Given the description of an element on the screen output the (x, y) to click on. 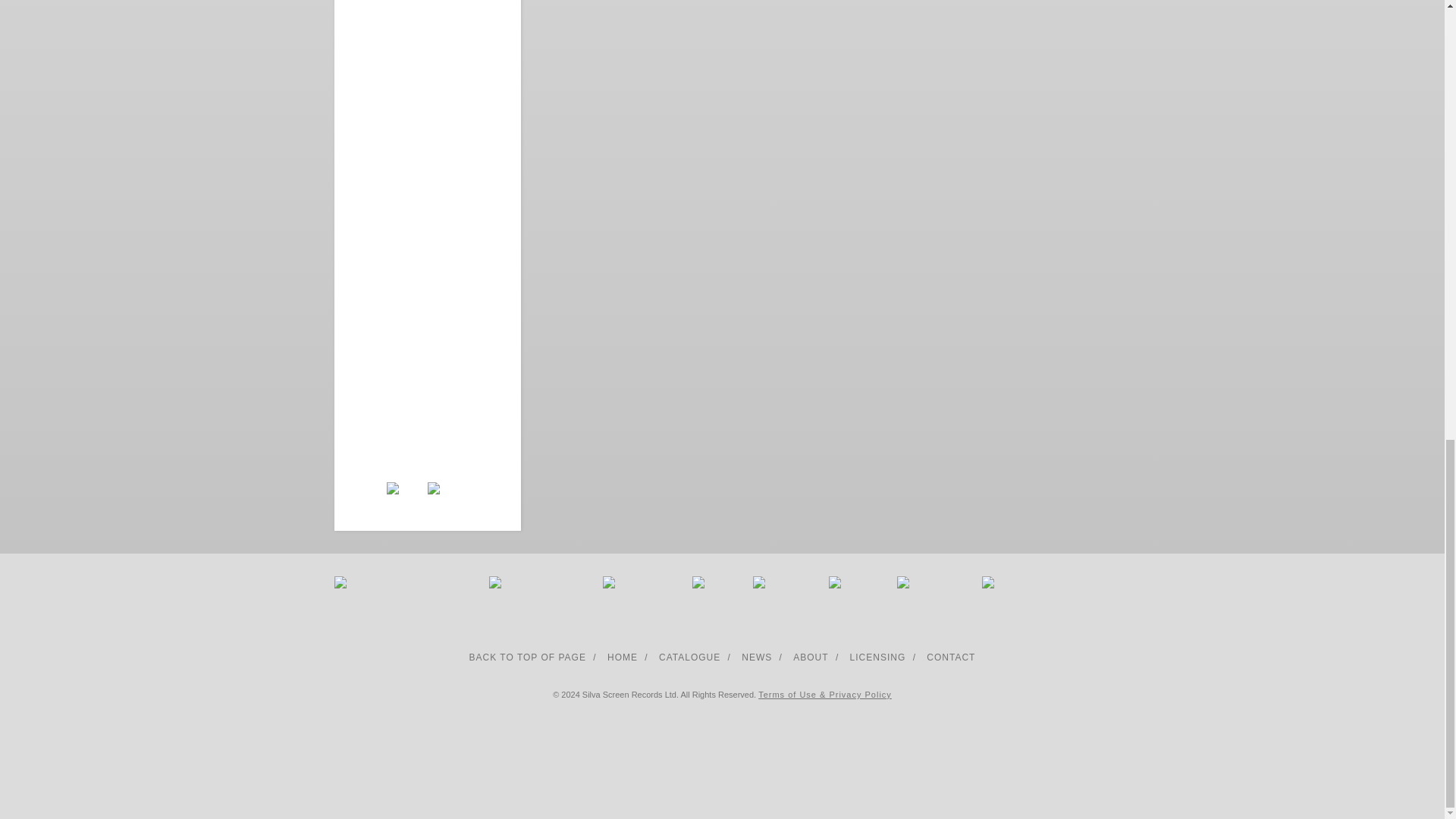
BACK TO TOP OF PAGE (527, 656)
LICENSING (877, 656)
CONTACT (950, 656)
HOME (622, 656)
NEWS (756, 656)
ABOUT (810, 656)
CATALOGUE (689, 656)
